Given the description of an element on the screen output the (x, y) to click on. 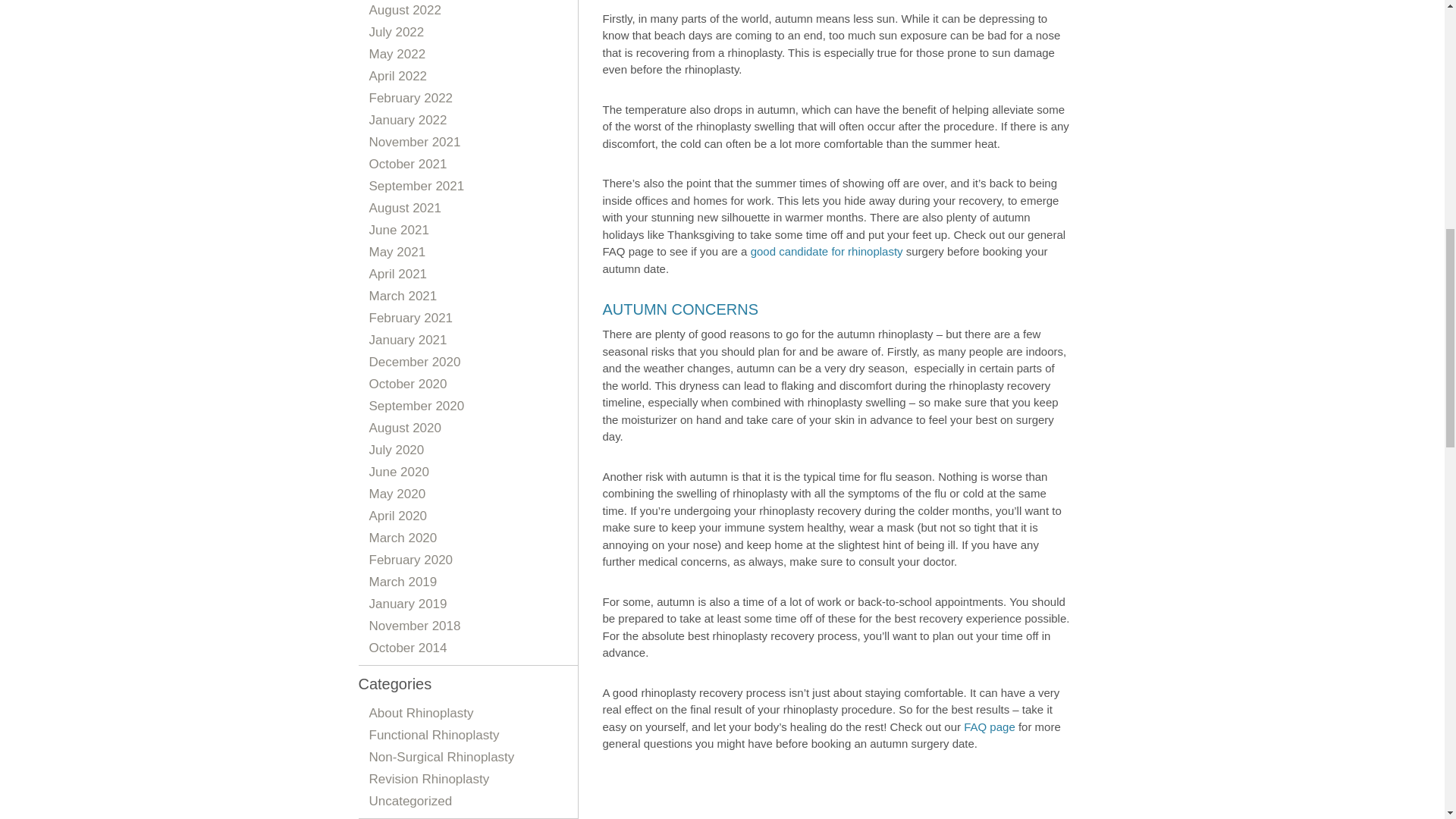
good candidate for rhinoplasty (826, 250)
FAQ page (988, 726)
